Given the description of an element on the screen output the (x, y) to click on. 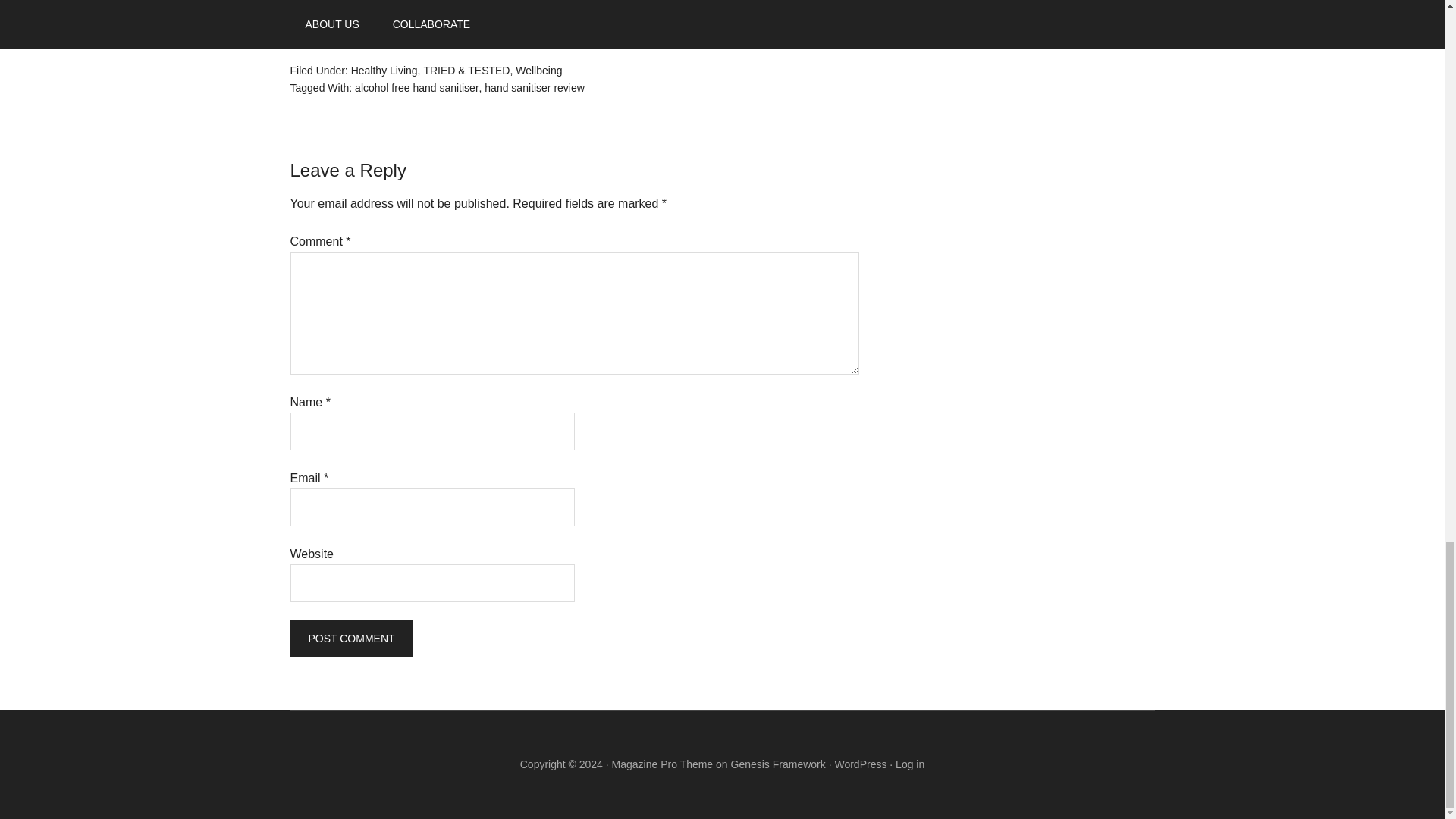
Post Comment (350, 637)
Healthy Living (383, 70)
Read more from Daria (349, 31)
Wellbeing (538, 70)
